Given the description of an element on the screen output the (x, y) to click on. 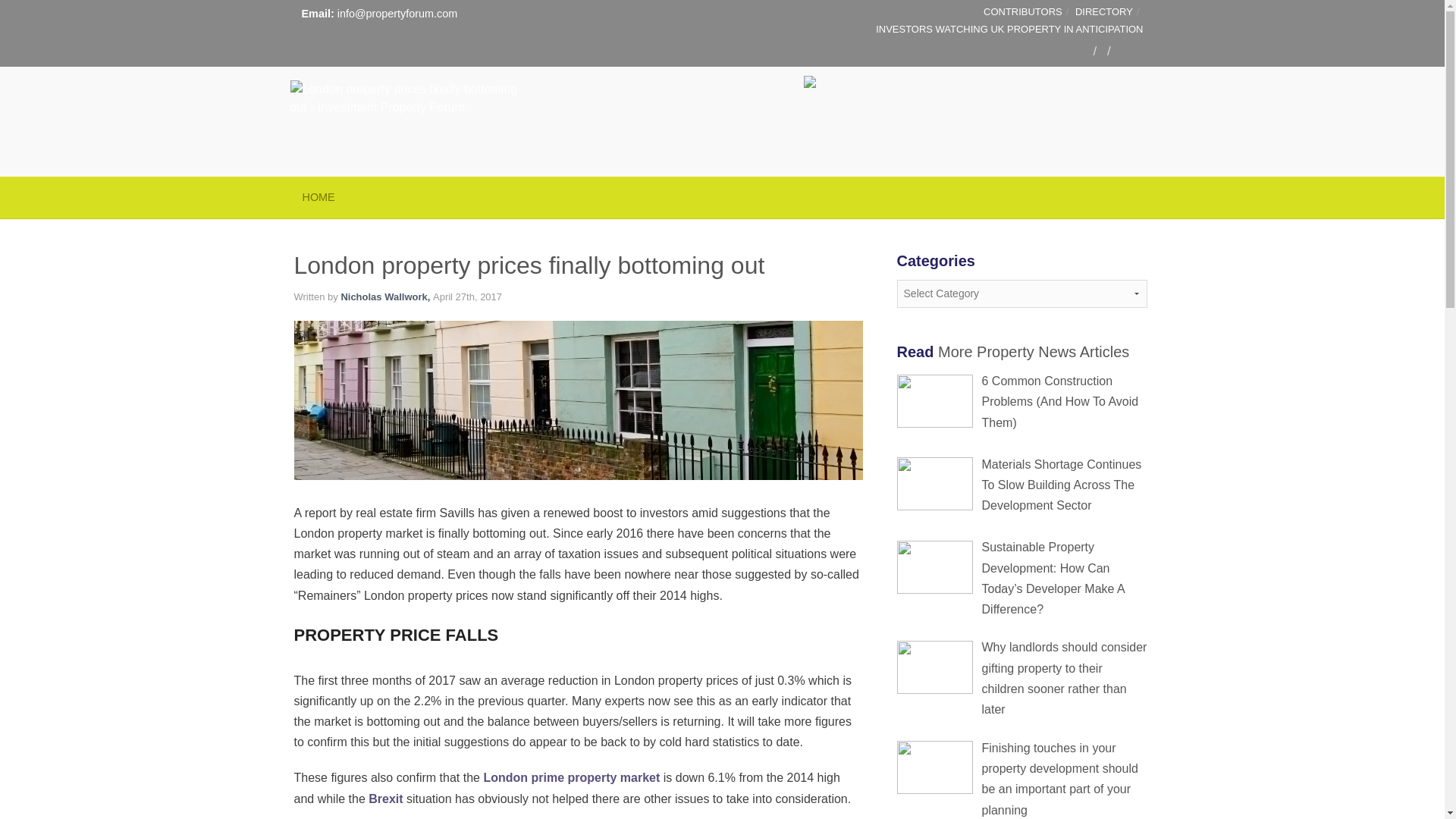
London prime property market (571, 777)
DIRECTORY (1103, 11)
CONTRIBUTORS (1023, 11)
Investment Property Forum (402, 83)
Nicholas Wallwork, (386, 296)
Brexit (385, 798)
INVESTORS WATCHING UK PROPERTY IN ANTICIPATION (1009, 29)
HOME (318, 197)
